Given the description of an element on the screen output the (x, y) to click on. 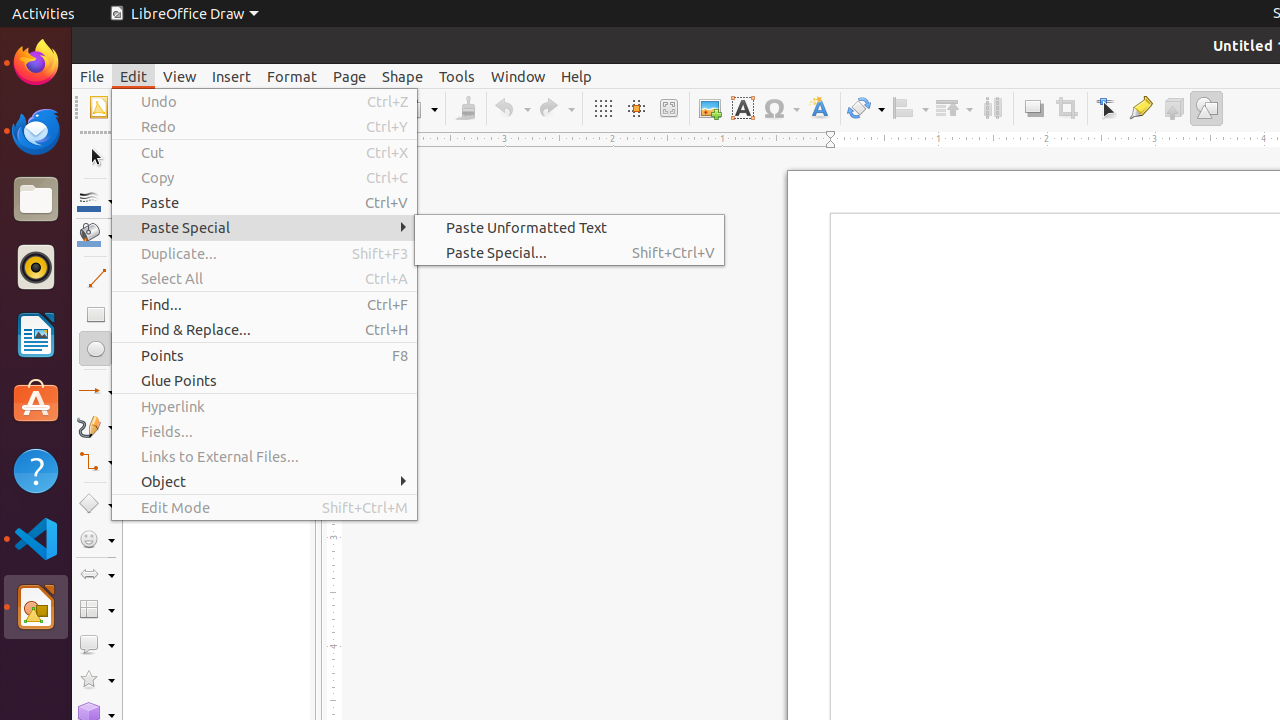
Image Element type: push-button (709, 108)
Find... Element type: menu-item (264, 304)
Glue Points Element type: check-menu-item (264, 380)
Undo Element type: push-button (512, 108)
Align Element type: push-button (910, 108)
